Given the description of an element on the screen output the (x, y) to click on. 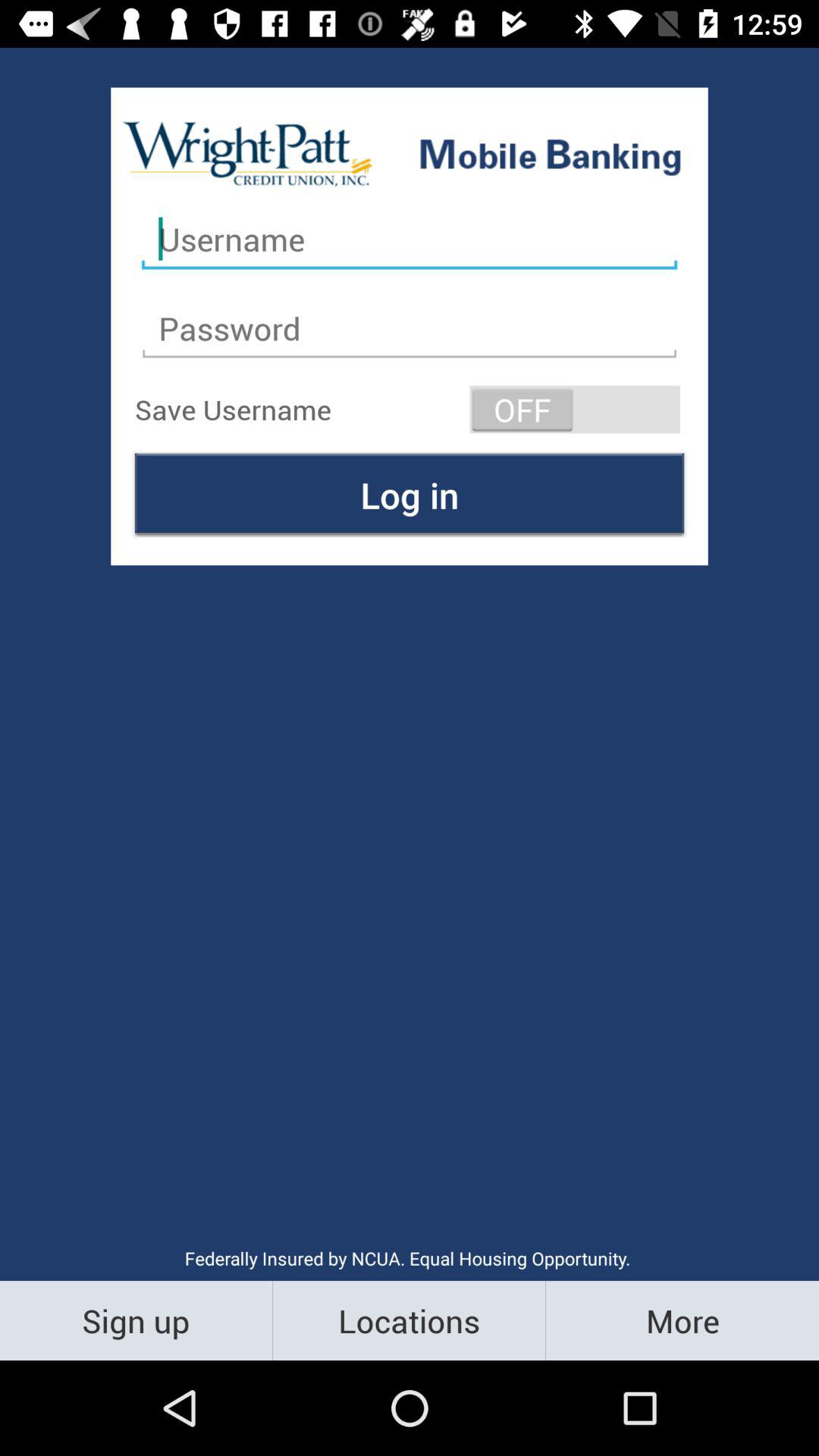
flip until more (682, 1320)
